Given the description of an element on the screen output the (x, y) to click on. 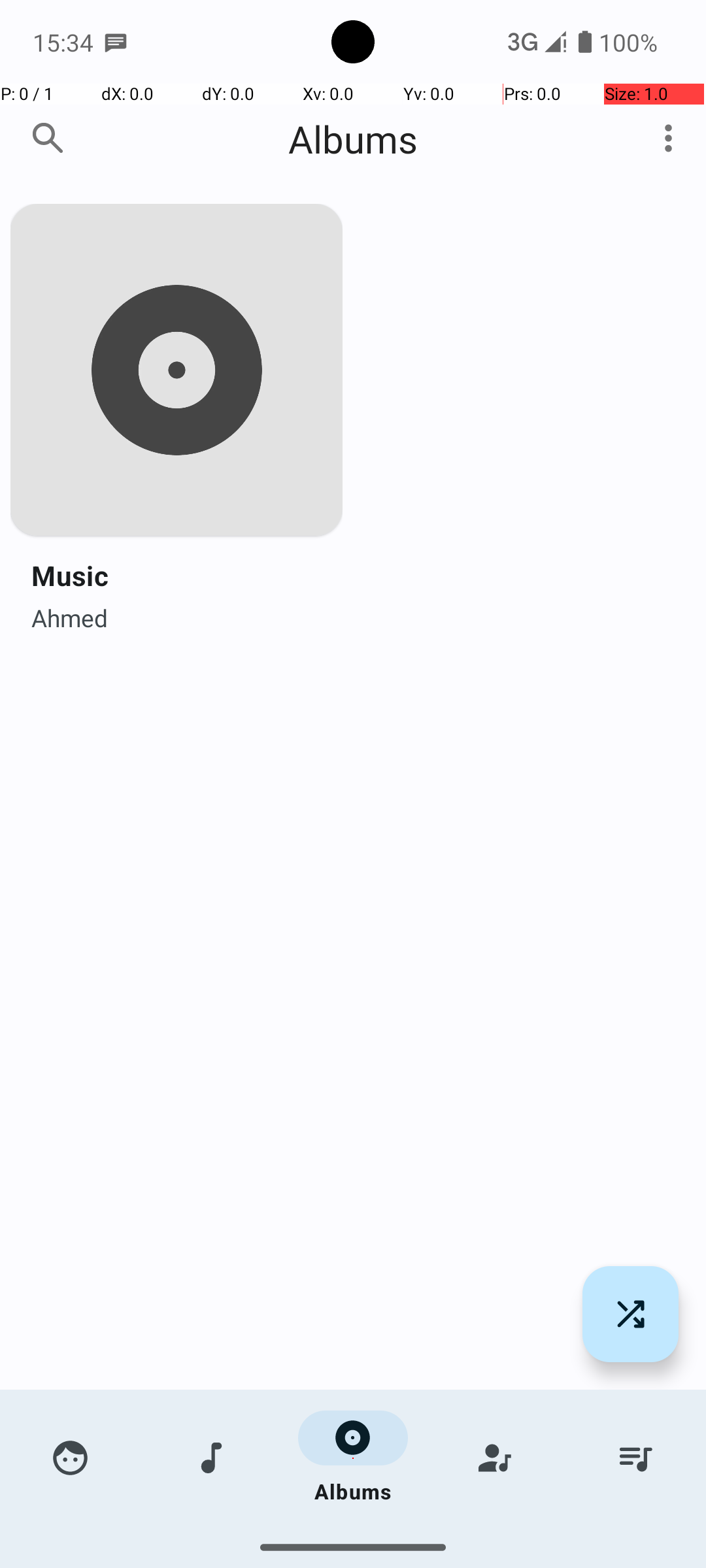
Music Element type: android.widget.TextView (69, 574)
Ahmed Element type: android.widget.TextView (69, 613)
